Given the description of an element on the screen output the (x, y) to click on. 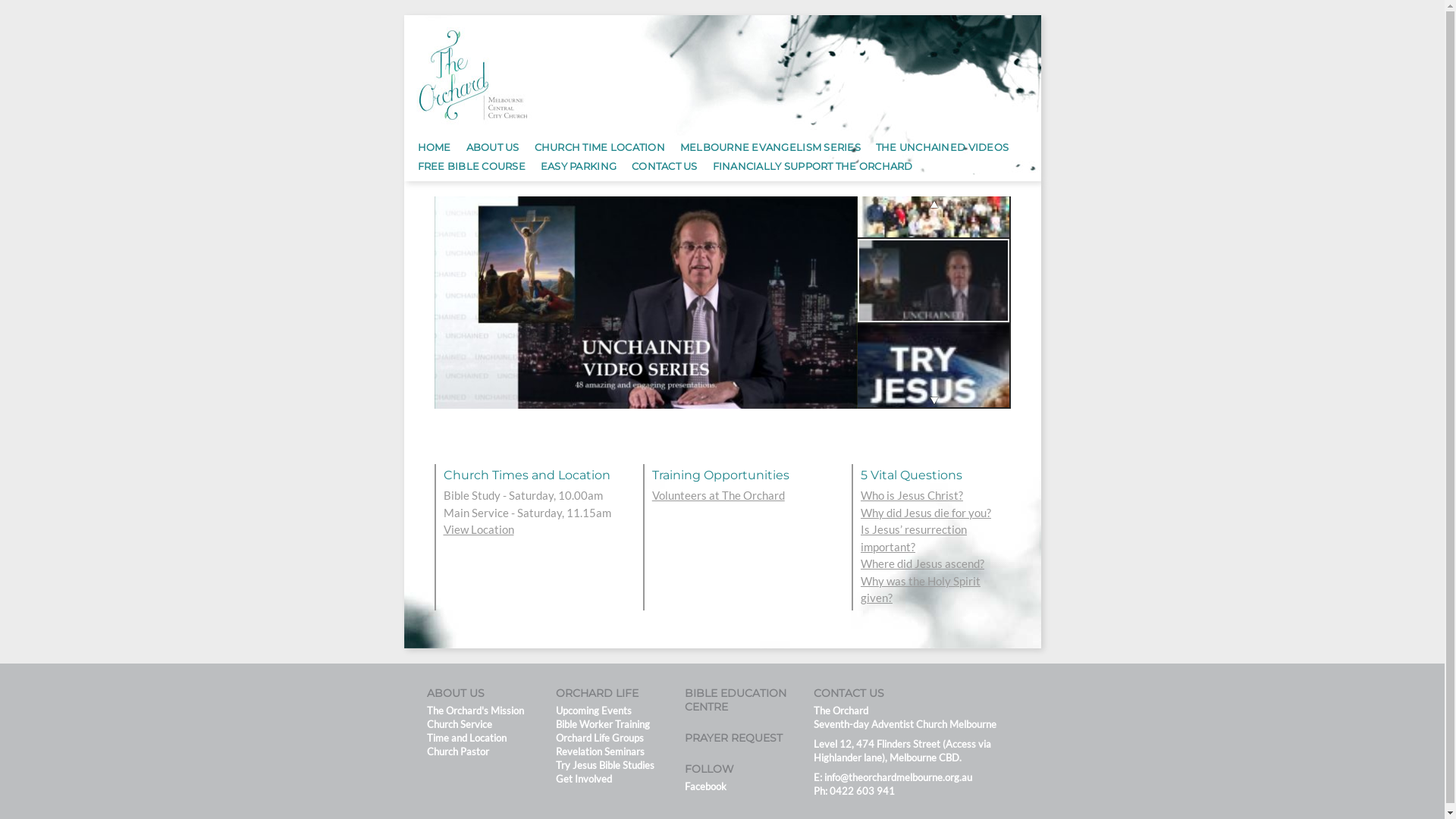
Try Jesus Bible Studies Element type: text (604, 765)
EASY PARKING Element type: text (578, 163)
Bible Worker Training Element type: text (602, 724)
MELBOURNE EVANGELISM SERIES Element type: text (770, 145)
HOME Element type: text (433, 145)
Volunteers at The Orchard Element type: text (718, 495)
Facebook Element type: text (704, 786)
The Orchard's Mission Element type: text (474, 710)
FINANCIALLY SUPPORT THE ORCHARD Element type: text (812, 163)
CHURCH TIME LOCATION Element type: text (599, 145)
Church Pastor Element type: text (457, 751)
Who is Jesus Christ? Element type: text (911, 495)
Upcoming Events Element type: text (592, 710)
Orchard Life Groups Element type: text (599, 737)
PRAYER REQUEST Element type: text (732, 737)
Where did Jesus ascend? Element type: text (922, 563)
BIBLE EDUCATION CENTRE Element type: text (734, 699)
Revelation Seminars Element type: text (599, 751)
ABOUT US Element type: text (492, 145)
THE UNCHAINED VIDEOS Element type: text (942, 145)
Church Service
Time and Location Element type: text (465, 730)
Why did Jesus die for you? Element type: text (925, 512)
CONTACT US Element type: text (664, 163)
Get Involved Element type: text (583, 778)
View Location Element type: text (477, 529)
FREE BIBLE COURSE Element type: text (470, 163)
UNCHAINED Element type: text (644, 302)
Why was the Holy Spirit given? Element type: text (920, 589)
